Given the description of an element on the screen output the (x, y) to click on. 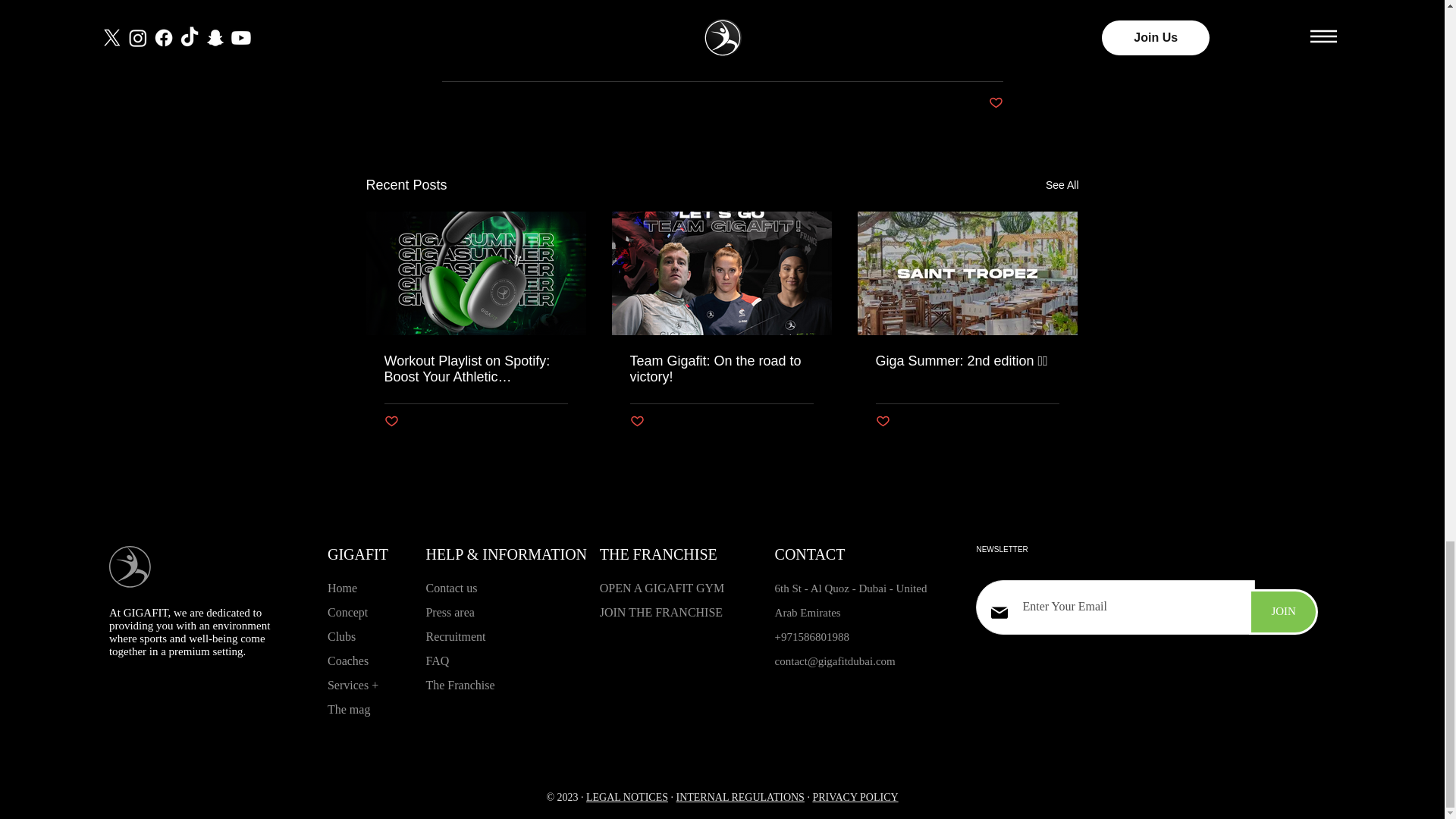
Coaches (347, 660)
PRIVACY POLICY (855, 797)
Home (341, 587)
Team Gigafit: On the road to victory! (720, 368)
Concept (347, 612)
Post not marked as liked (882, 421)
INTERNAL REGULATIONS (739, 797)
Gigafit (466, 5)
LEGAL NOTICES (627, 797)
Clubs (341, 635)
